Given the description of an element on the screen output the (x, y) to click on. 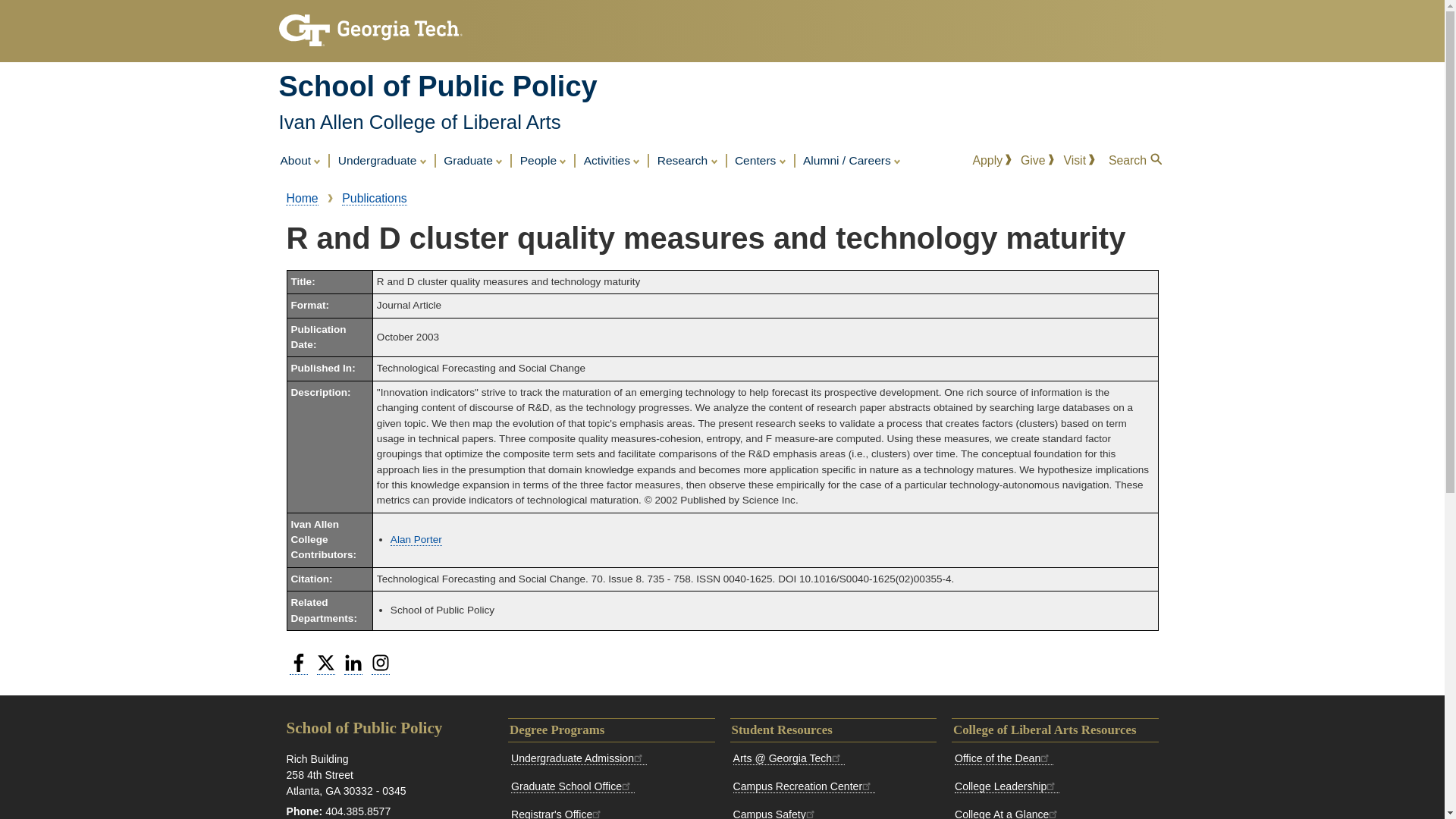
Undergraduate (381, 161)
Home (437, 86)
About (301, 161)
Ivan Allen College of Liberal Arts (419, 121)
People (543, 161)
Skip to main content (722, 2)
Graduate (472, 161)
School of Public Policy (437, 86)
